Given the description of an element on the screen output the (x, y) to click on. 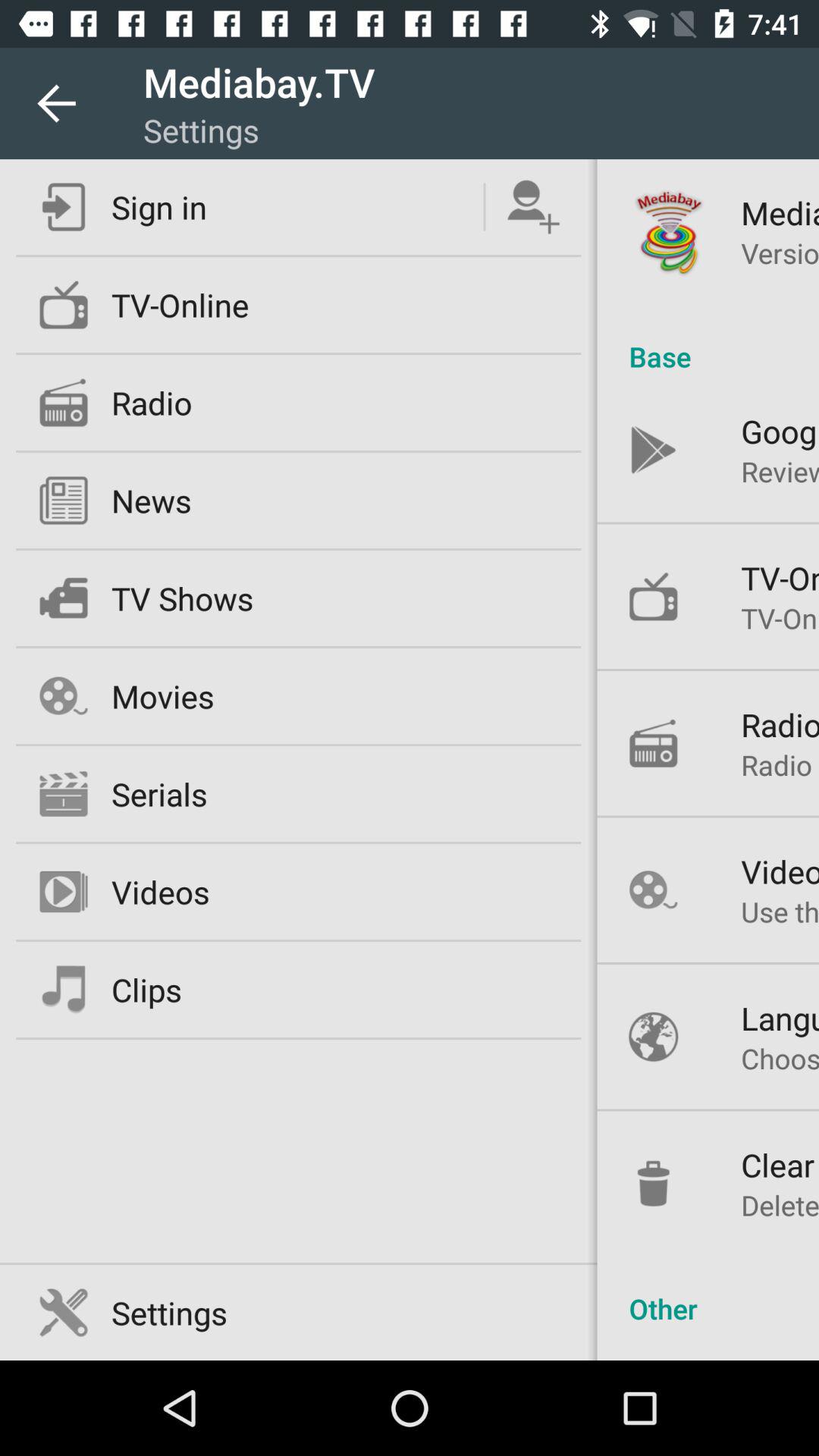
click base (708, 340)
